Given the description of an element on the screen output the (x, y) to click on. 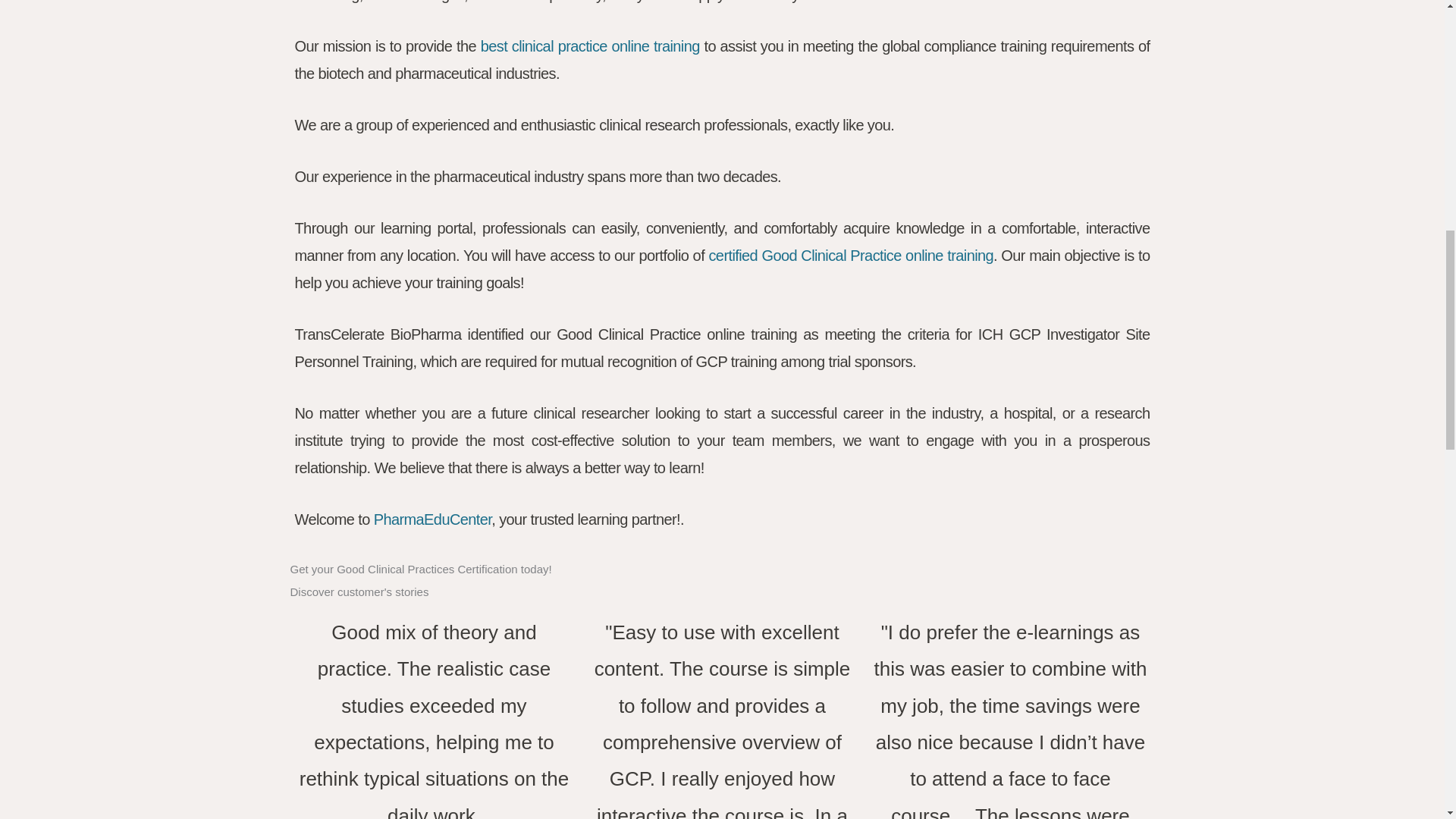
PharmaEduCenter (433, 519)
best clinical practice online training (590, 45)
certified Good Clinical Practice online training (849, 255)
